Given the description of an element on the screen output the (x, y) to click on. 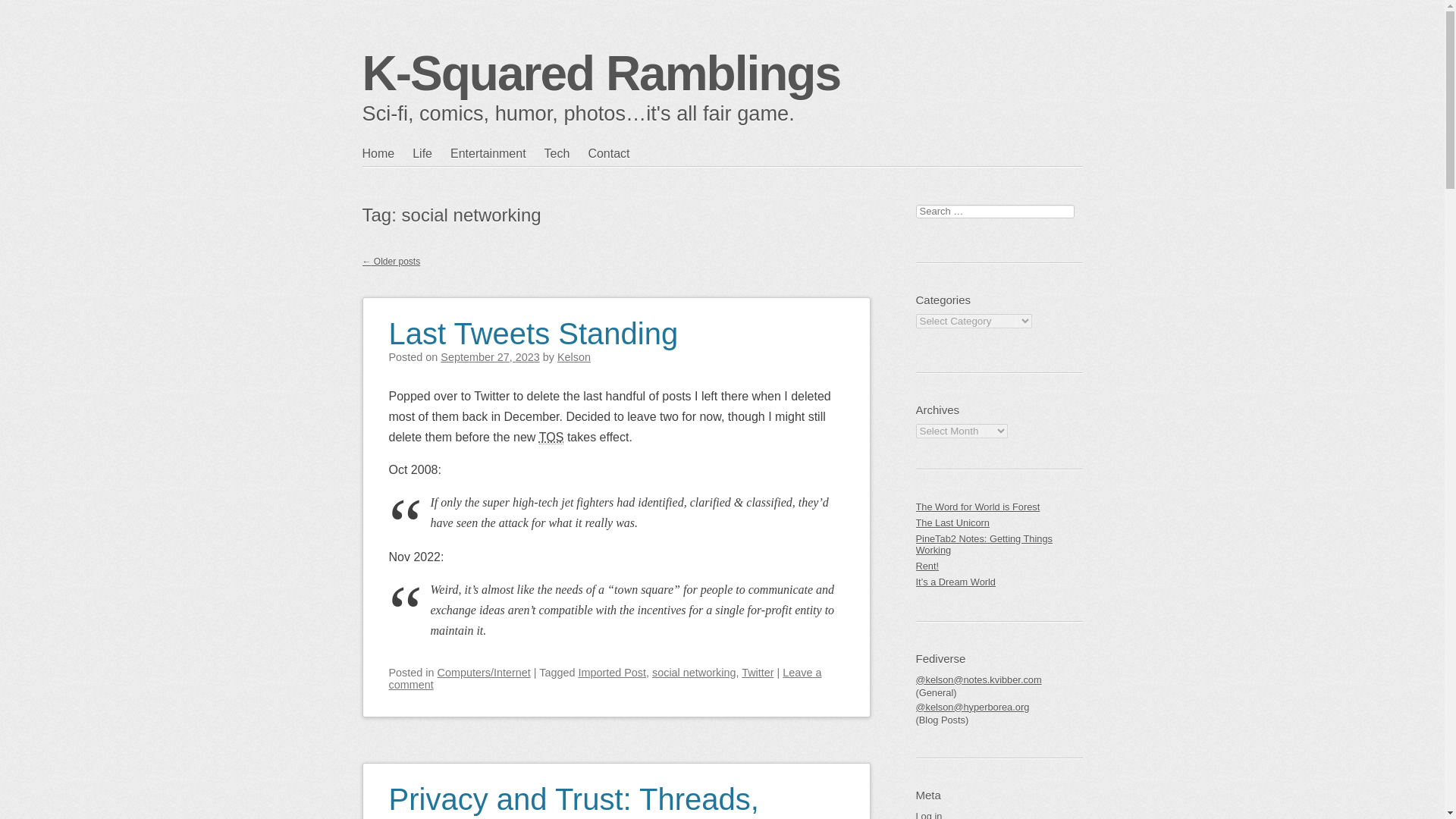
Contact (617, 153)
Home (387, 153)
Imported Post (612, 672)
K-Squared Ramblings (601, 72)
Main menu (435, 183)
Privacy and Trust: Threads, Twitter and the Fediverse (573, 791)
Kelson (574, 357)
Leave a comment (604, 678)
Life (430, 153)
Twitter (757, 672)
social networking (693, 672)
Entertainment (496, 153)
Permalink to Last Tweets Standing (533, 324)
K-Squared Ramblings (601, 72)
